Given the description of an element on the screen output the (x, y) to click on. 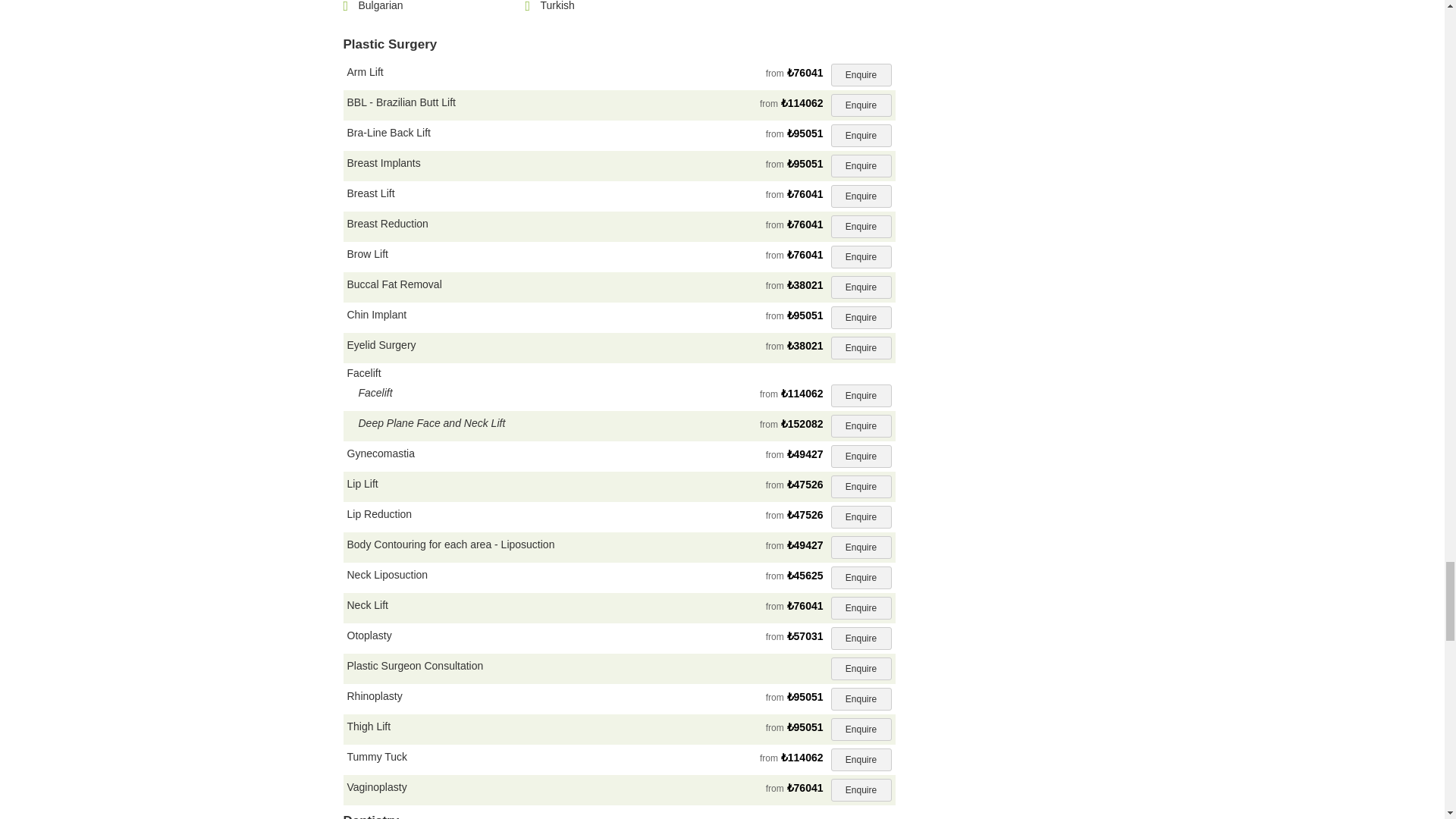
Enquire (861, 105)
Enquire (861, 74)
Enquire (861, 135)
Enquire (861, 165)
